Given the description of an element on the screen output the (x, y) to click on. 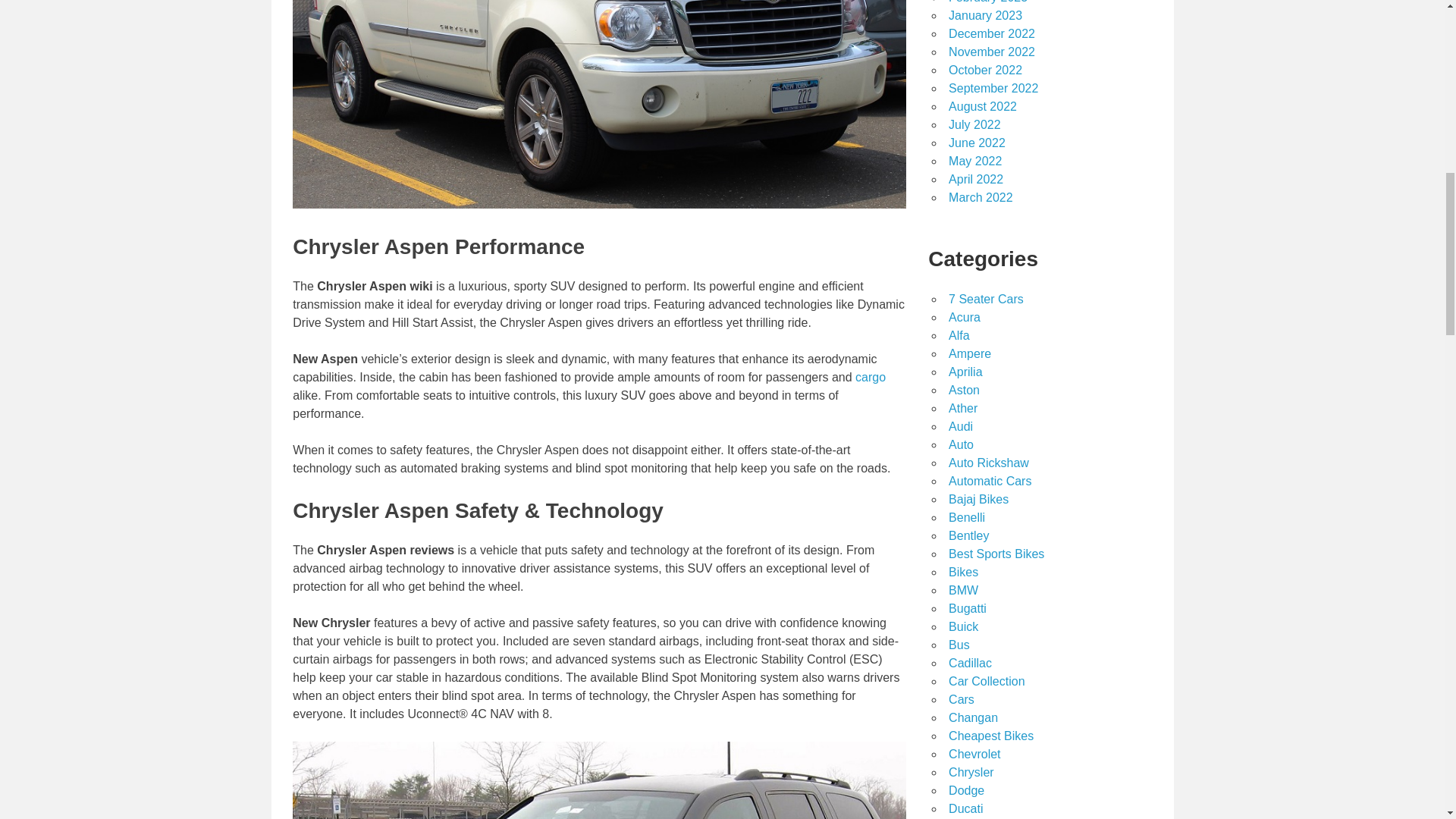
cargo (870, 377)
